Given the description of an element on the screen output the (x, y) to click on. 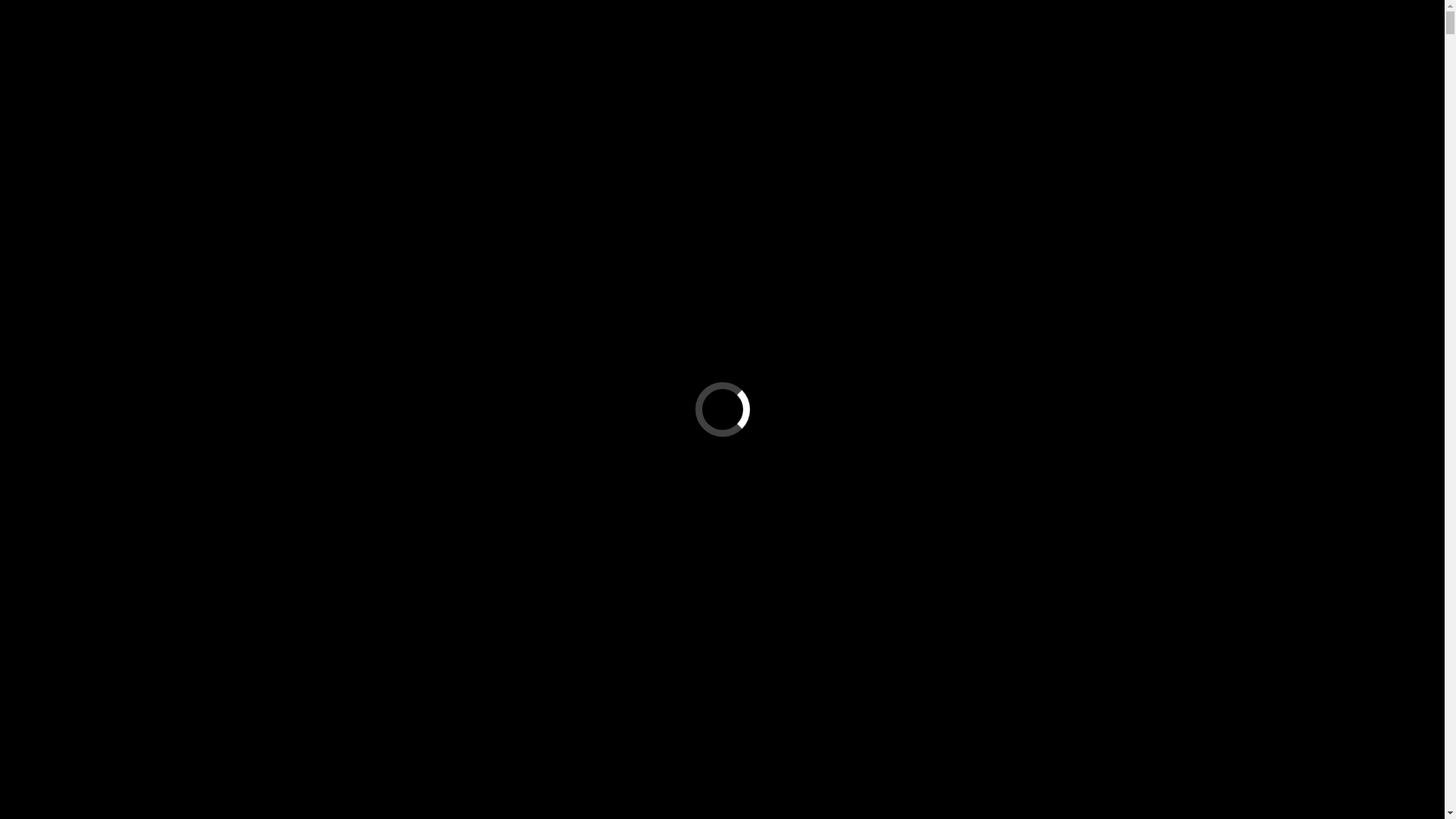
HOME Element type: text (187, 134)
SERVICES Element type: text (529, 134)
SHOWCASE Element type: text (888, 134)
CONTACT Element type: text (1245, 134)
Facebook page opens in new window Element type: text (1411, 58)
Facebook page opens in new window Element type: text (135, 162)
